Given the description of an element on the screen output the (x, y) to click on. 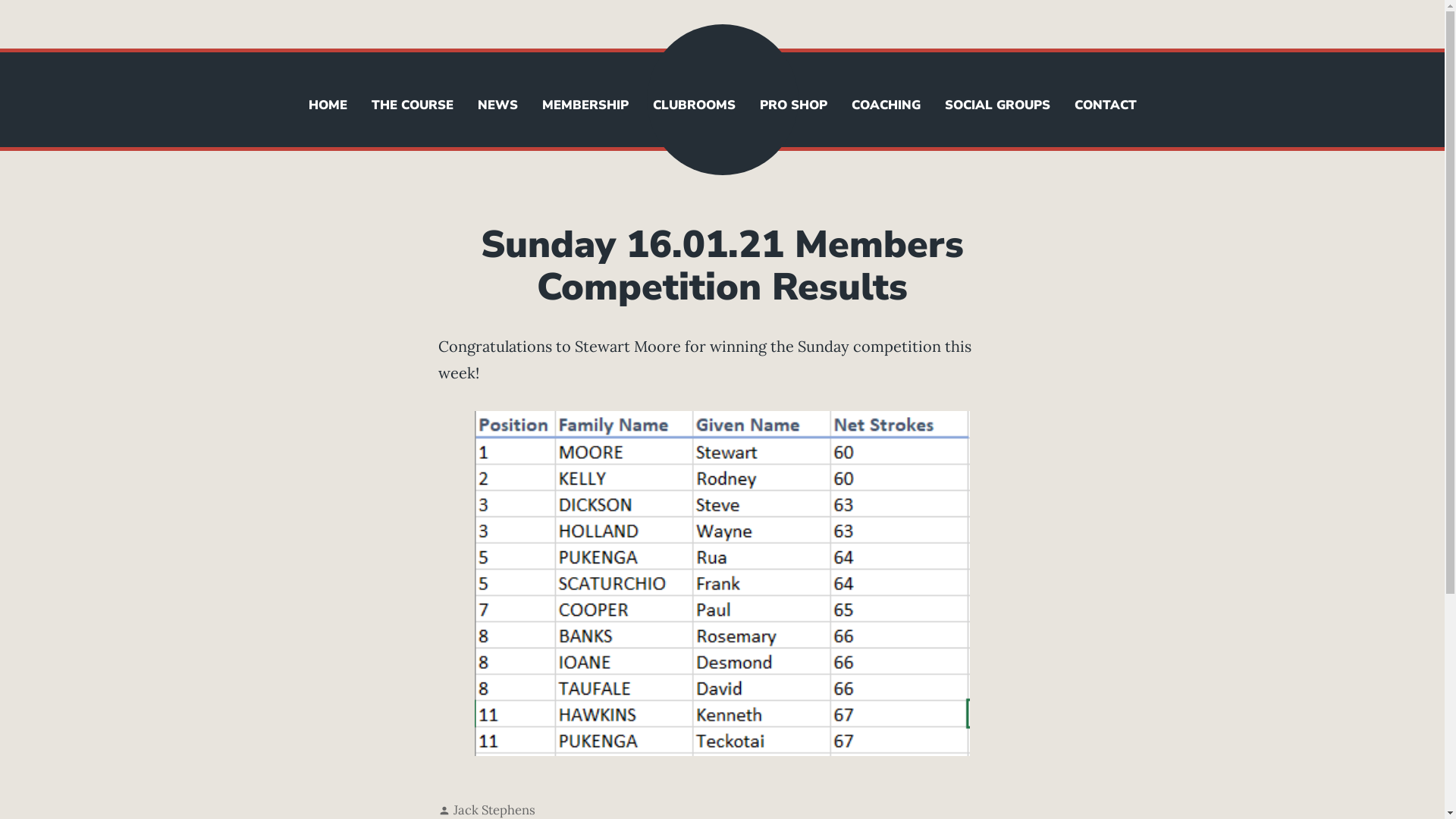
HOME Element type: text (326, 105)
NEWS Element type: text (497, 105)
MEMBERSHIP Element type: text (584, 105)
Jack Stephens Element type: text (494, 809)
COACHING Element type: text (884, 105)
Australasian Golf Club Element type: text (170, 88)
SOCIAL GROUPS Element type: text (997, 105)
THE COURSE Element type: text (412, 105)
CLUBROOMS Element type: text (693, 105)
CONTACT Element type: text (1104, 105)
PRO SHOP Element type: text (793, 105)
